Given the description of an element on the screen output the (x, y) to click on. 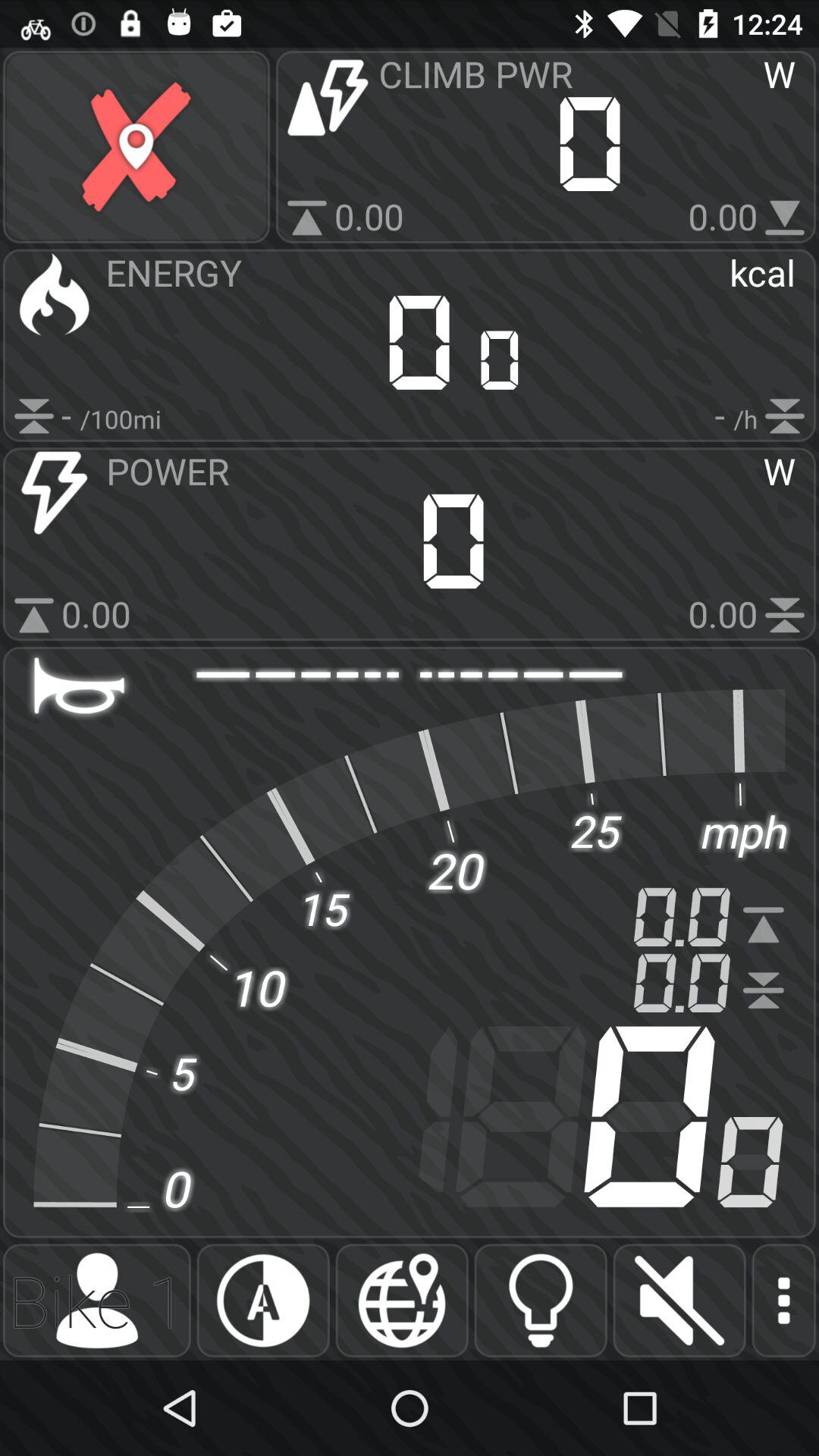
this is a vehicle meter (262, 1300)
